Given the description of an element on the screen output the (x, y) to click on. 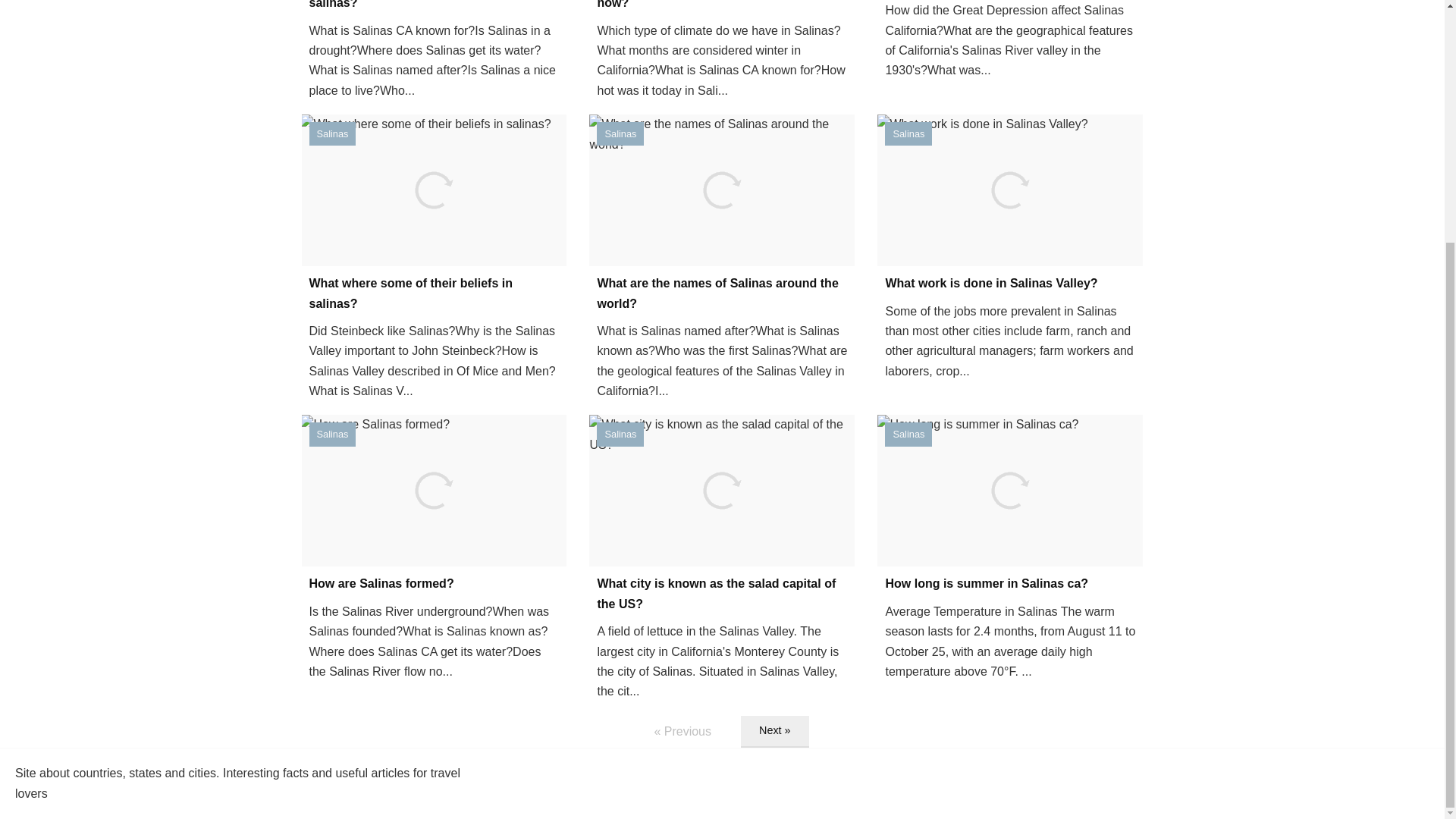
What work is done in Salinas Valley? (1010, 283)
How are Salinas formed? (433, 583)
Salinas (619, 133)
What are the names of Salinas around the world? (721, 293)
Salinas (908, 433)
What season is salinas calfornia in right now? (721, 6)
Salinas (332, 433)
What city is known as the salad capital of the US? (721, 594)
How long is summer in Salinas ca? (1010, 583)
Salinas (332, 133)
